Given the description of an element on the screen output the (x, y) to click on. 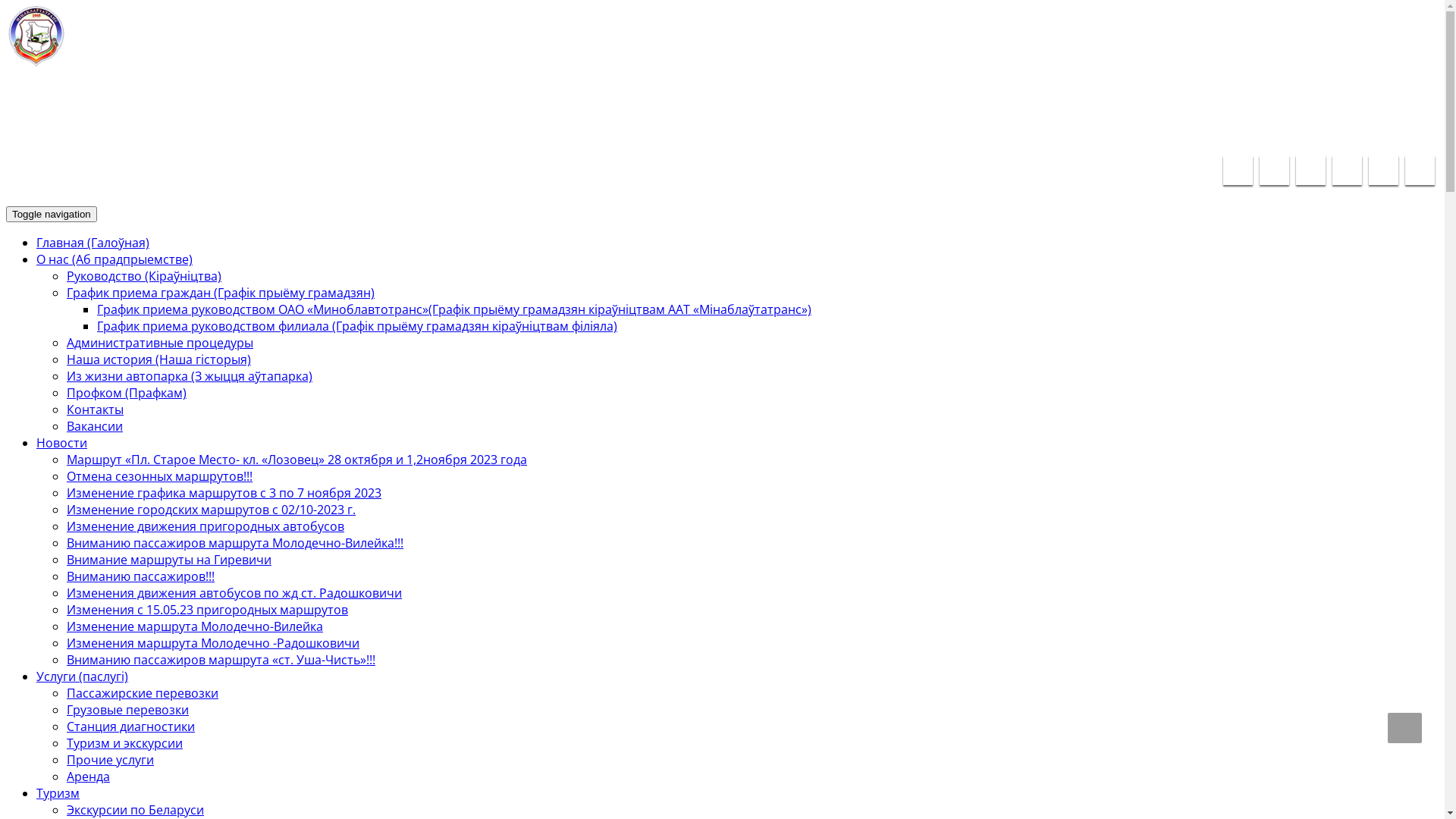
Youtube Element type: hover (1346, 170)
ap4molod.by Element type: hover (36, 52)
Linkedin Element type: hover (1310, 170)
+375176-73-73-78 Element type: text (1374, 128)
Go Top Element type: hover (1404, 727)
ap4@minoblavtotrans.by Element type: text (1222, 128)
Facebook Element type: hover (1237, 170)
gplus Element type: hover (1383, 170)
instagram Element type: hover (1419, 170)
Twiiter Element type: hover (1274, 170)
Toggle navigation Element type: text (51, 214)
